Given the description of an element on the screen output the (x, y) to click on. 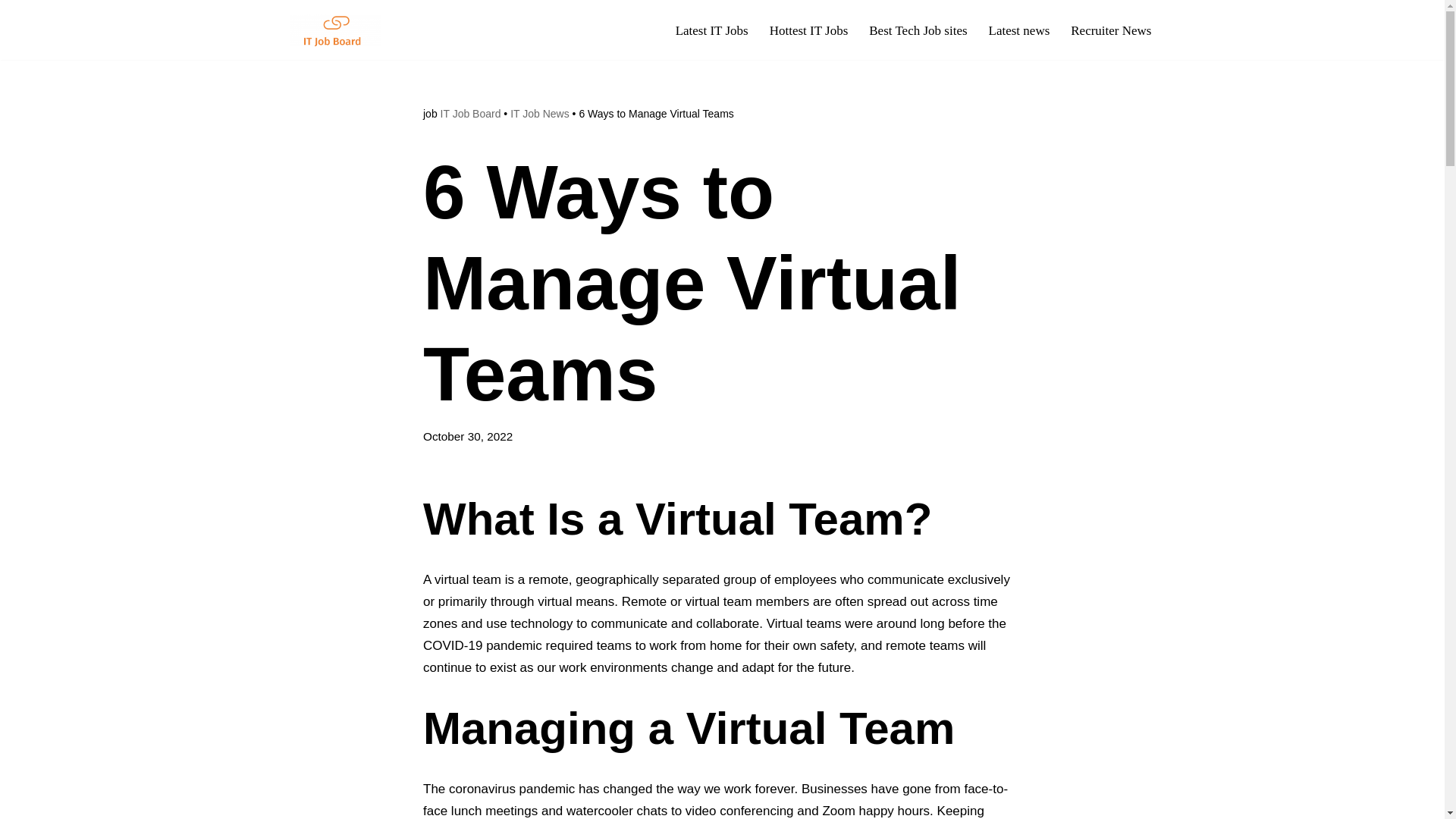
IT Job News (540, 113)
Latest IT Jobs (711, 29)
Best Tech Job sites (917, 29)
Hottest IT Jobs (809, 29)
Skip to content (11, 31)
IT Job Board (470, 113)
Recruiter News (1110, 29)
Latest news (1018, 29)
